Given the description of an element on the screen output the (x, y) to click on. 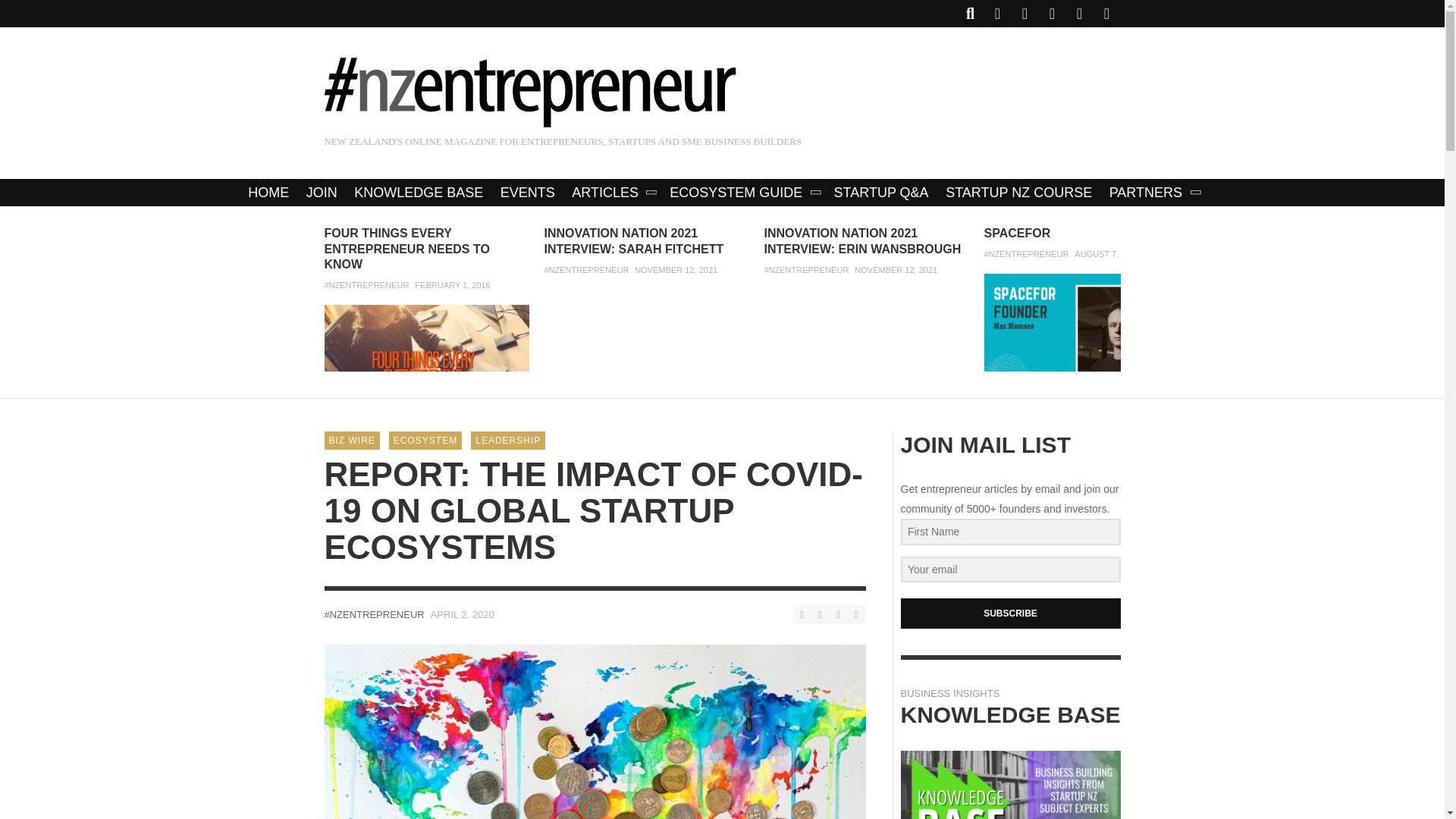
PARTNERS (1152, 192)
EVENTS (528, 192)
STARTUP NZ COURSE (1018, 192)
KNOWLEDGE BASE (419, 192)
JOIN (321, 192)
SPACEFOR (1017, 232)
ARTICLES (612, 192)
INNOVATION NATION 2021 INTERVIEW: SARAH FITCHETT (633, 240)
INNOVATION NATION 2021 INTERVIEW: ERIN WANSBROUGH (862, 240)
HOME (269, 192)
